Given the description of an element on the screen output the (x, y) to click on. 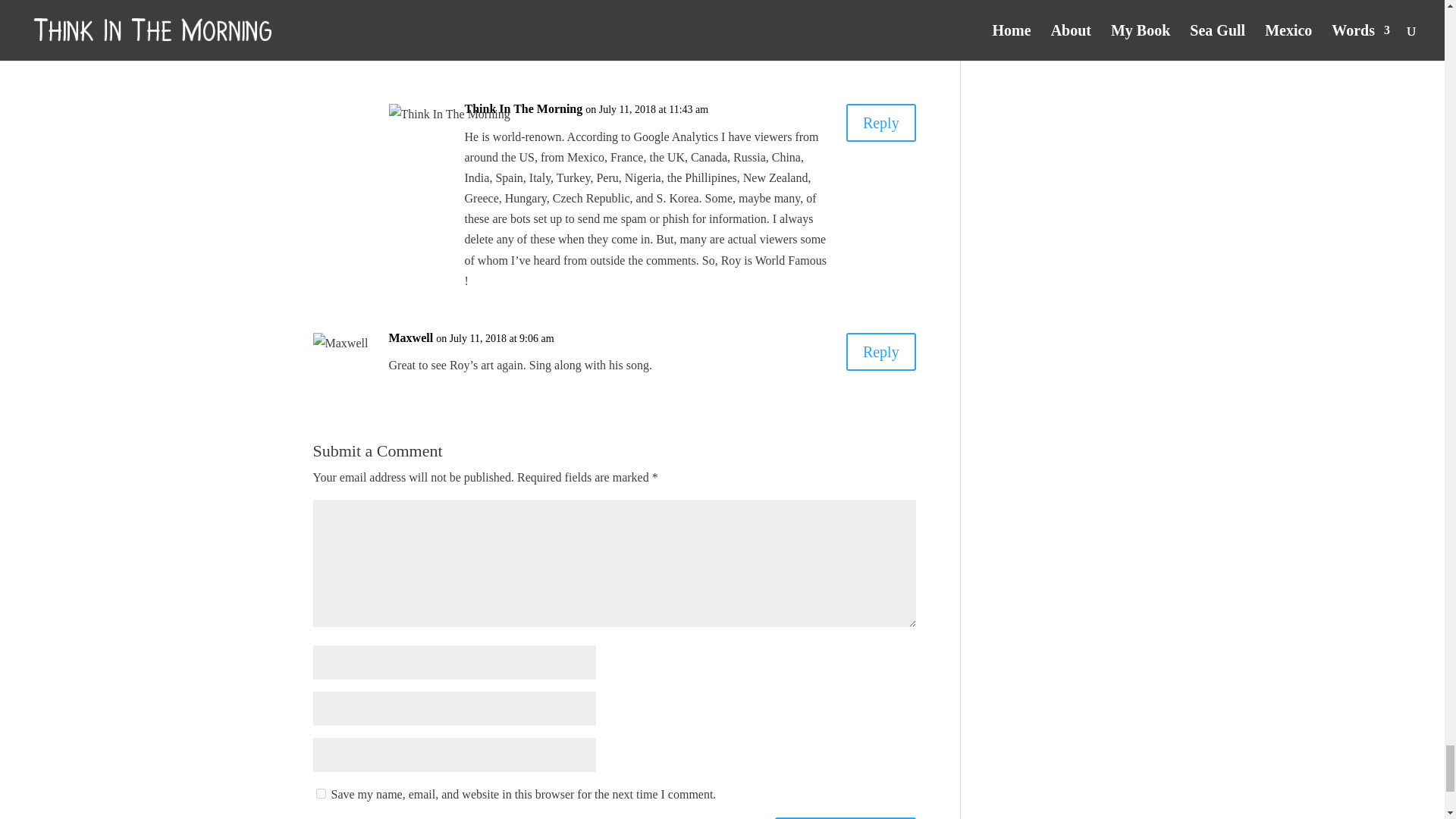
yes (319, 793)
Submit Comment (844, 818)
Reply (880, 122)
Submit Comment (844, 818)
Reply (880, 351)
Reply (880, 20)
Maxwell (410, 337)
